Given the description of an element on the screen output the (x, y) to click on. 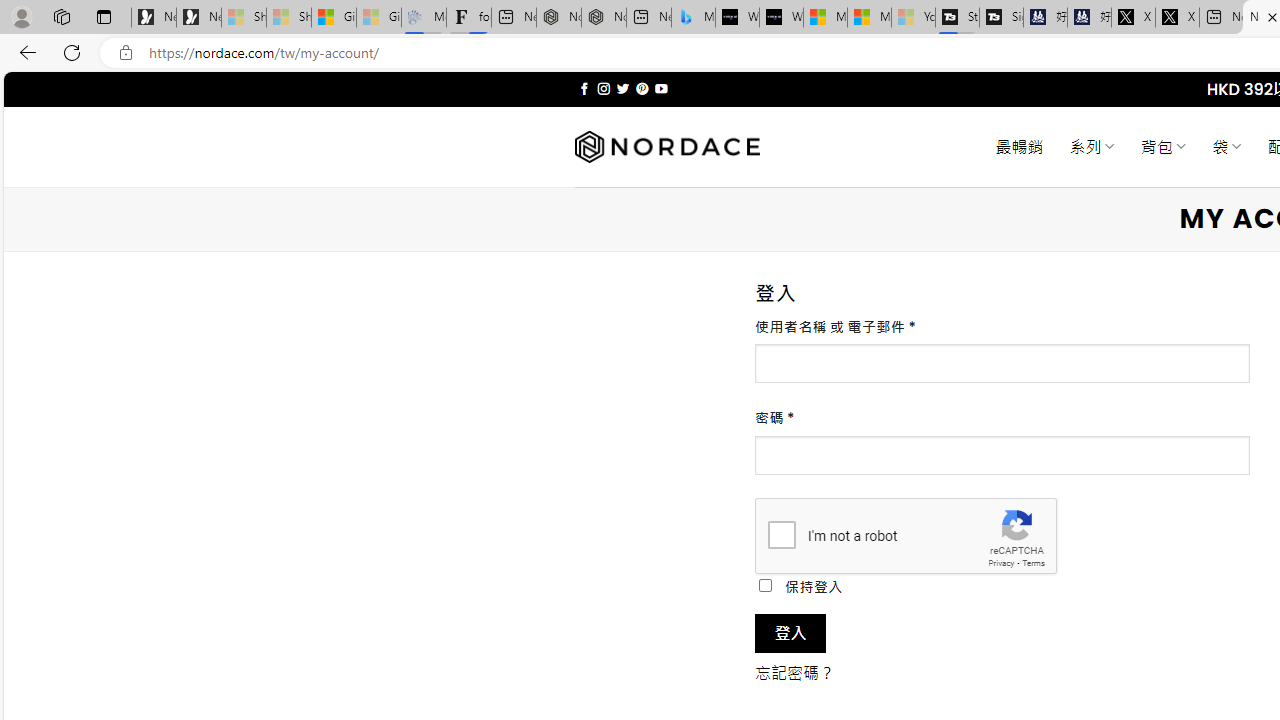
Terms (1033, 562)
Privacy (1001, 562)
Streaming Coverage | T3 (957, 17)
I'm not a robot (782, 533)
